Given the description of an element on the screen output the (x, y) to click on. 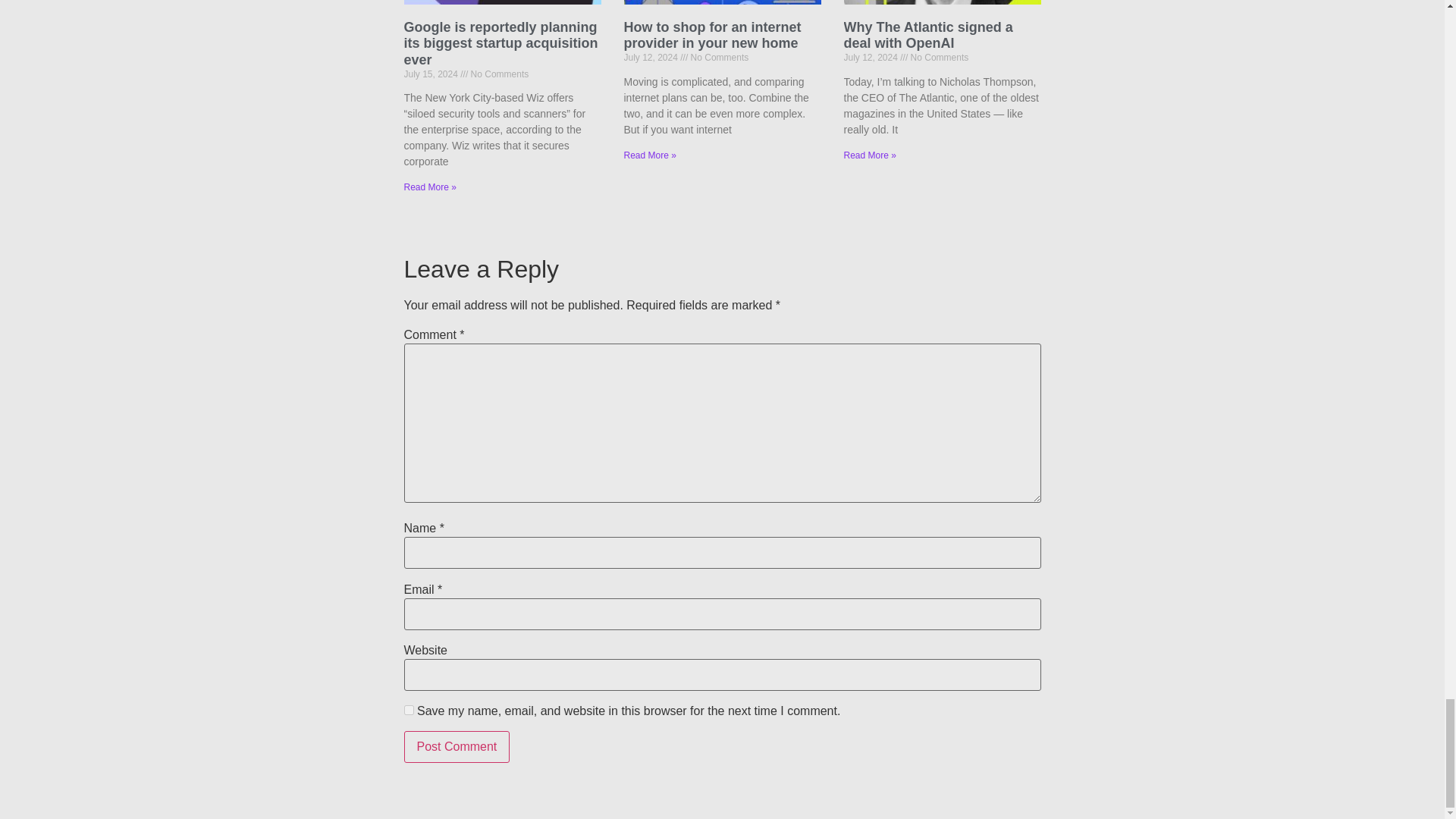
Post Comment (456, 746)
Why The Atlantic signed a deal with OpenAI (927, 35)
yes (408, 709)
Post Comment (456, 746)
How to shop for an internet provider in your new home (711, 35)
